Given the description of an element on the screen output the (x, y) to click on. 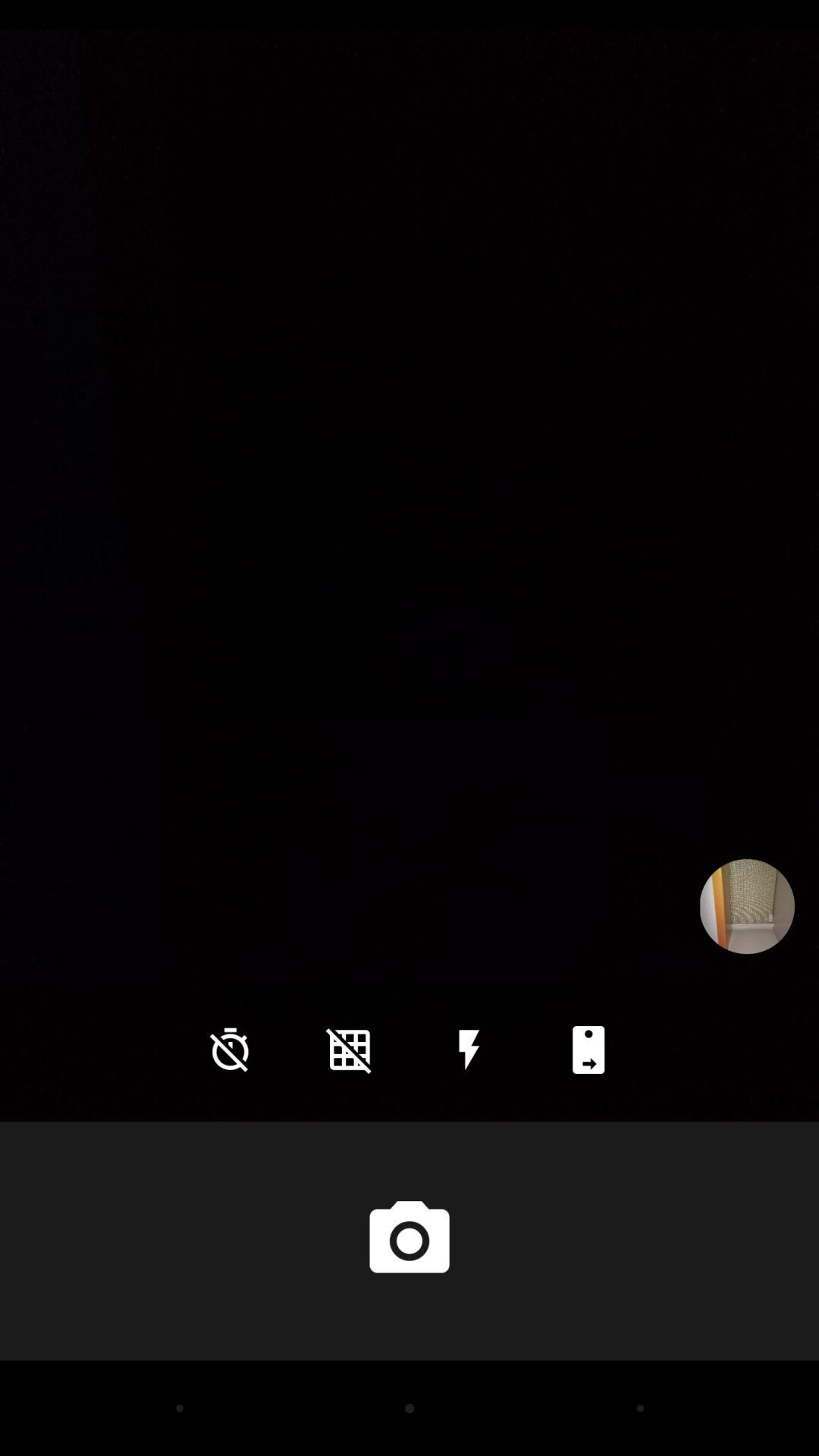
launch the item at the bottom left corner (230, 1049)
